Given the description of an element on the screen output the (x, y) to click on. 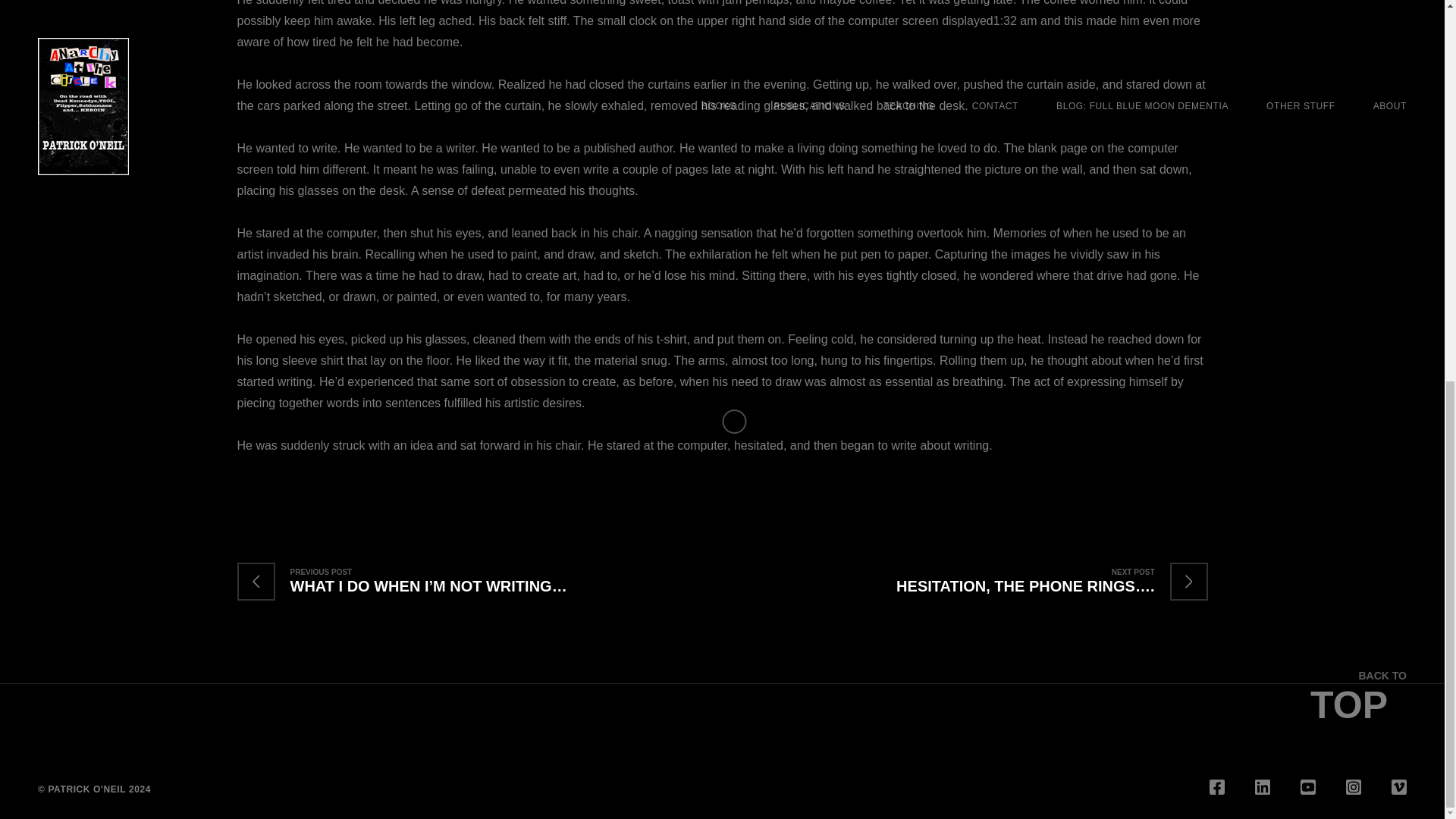
More share links (491, 489)
Tweet this ! (278, 489)
Add this to LinkedIn (369, 489)
Print this article  (430, 489)
Facebook messenger (339, 489)
Convert to PDF (460, 489)
Share this on Facebook (247, 489)
Email this  (400, 489)
Submit this to Pinterest (309, 489)
